Given the description of an element on the screen output the (x, y) to click on. 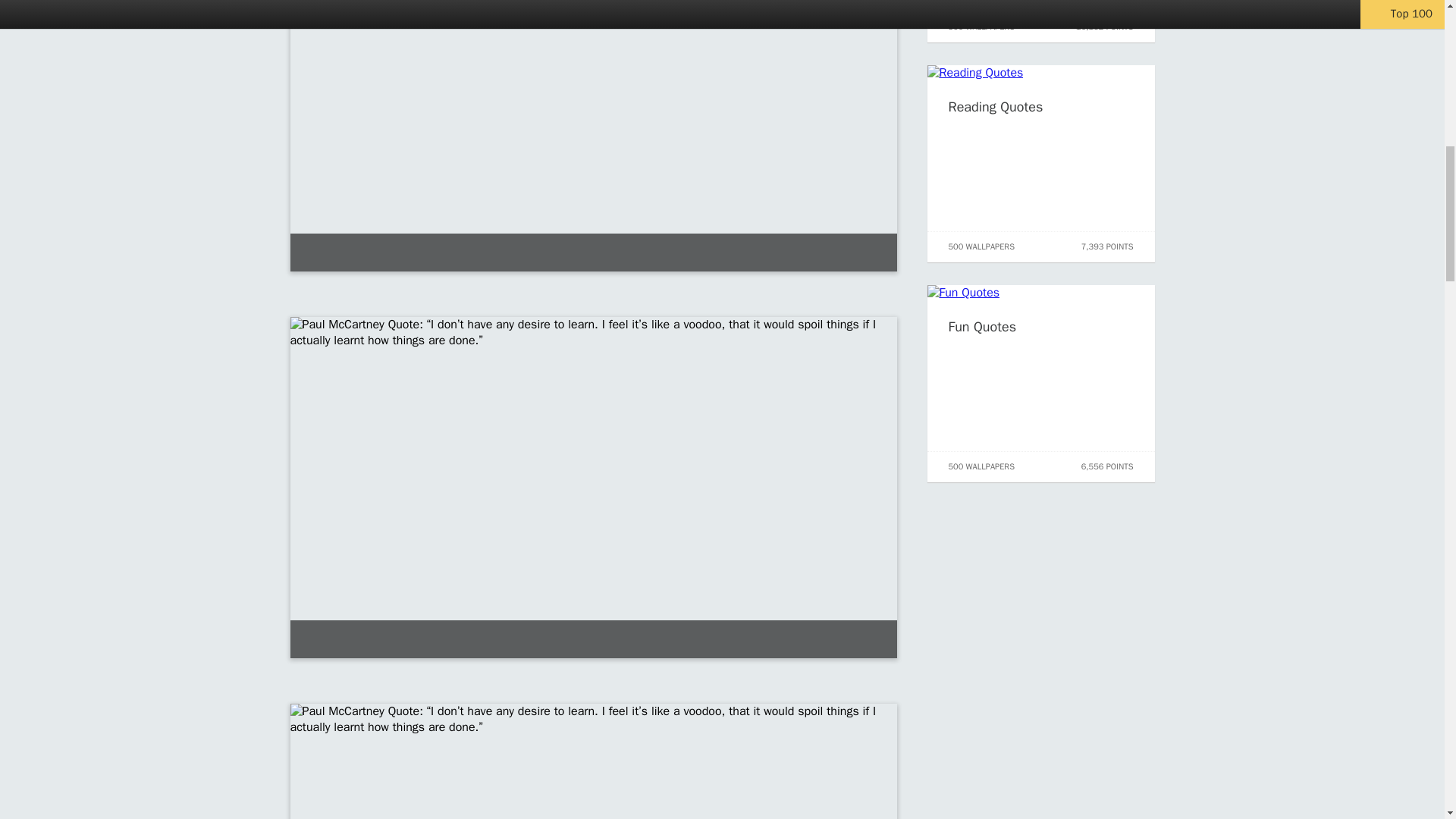
Fun Quotes (981, 326)
Reading Quotes (994, 106)
